Given the description of an element on the screen output the (x, y) to click on. 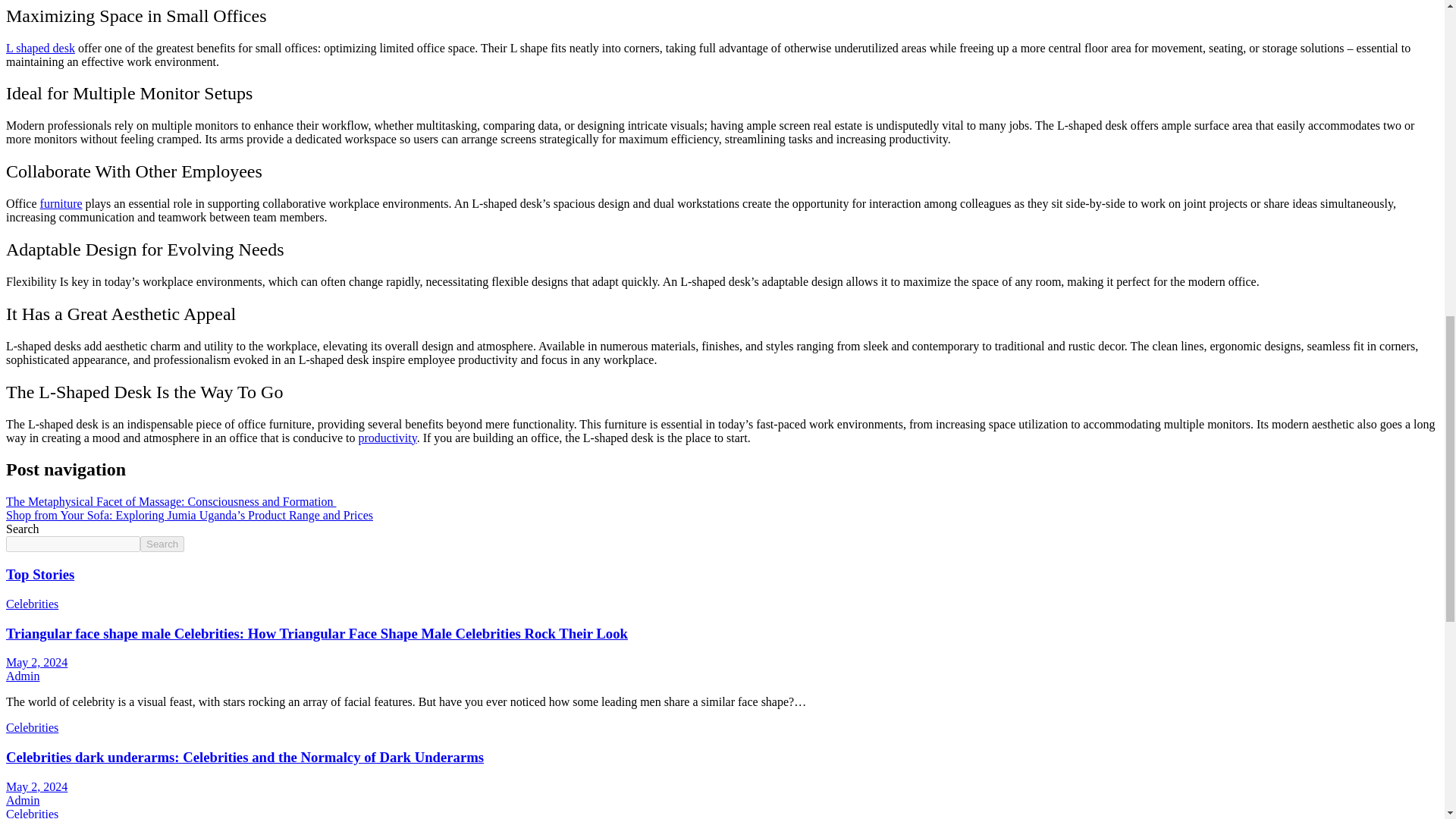
Celebrities (31, 603)
Search (161, 544)
furniture (61, 203)
productivity (387, 437)
May 2, 2024 (35, 662)
Top Stories (39, 574)
L shaped desk (40, 47)
